Given the description of an element on the screen output the (x, y) to click on. 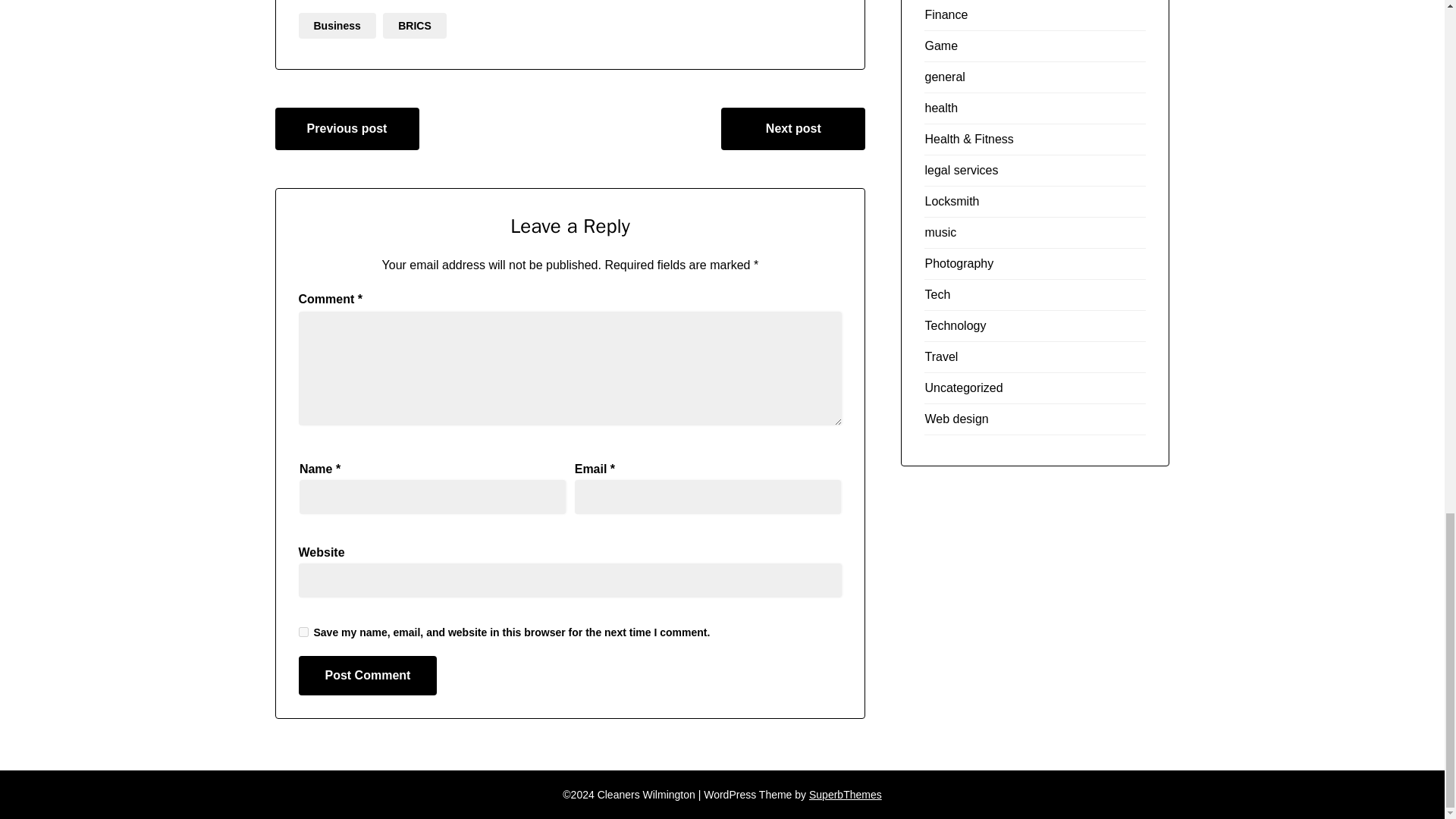
Business (336, 25)
Post Comment (368, 675)
BRICS (414, 25)
yes (303, 632)
Next post (792, 128)
Post Comment (368, 675)
Previous post (347, 128)
